Given the description of an element on the screen output the (x, y) to click on. 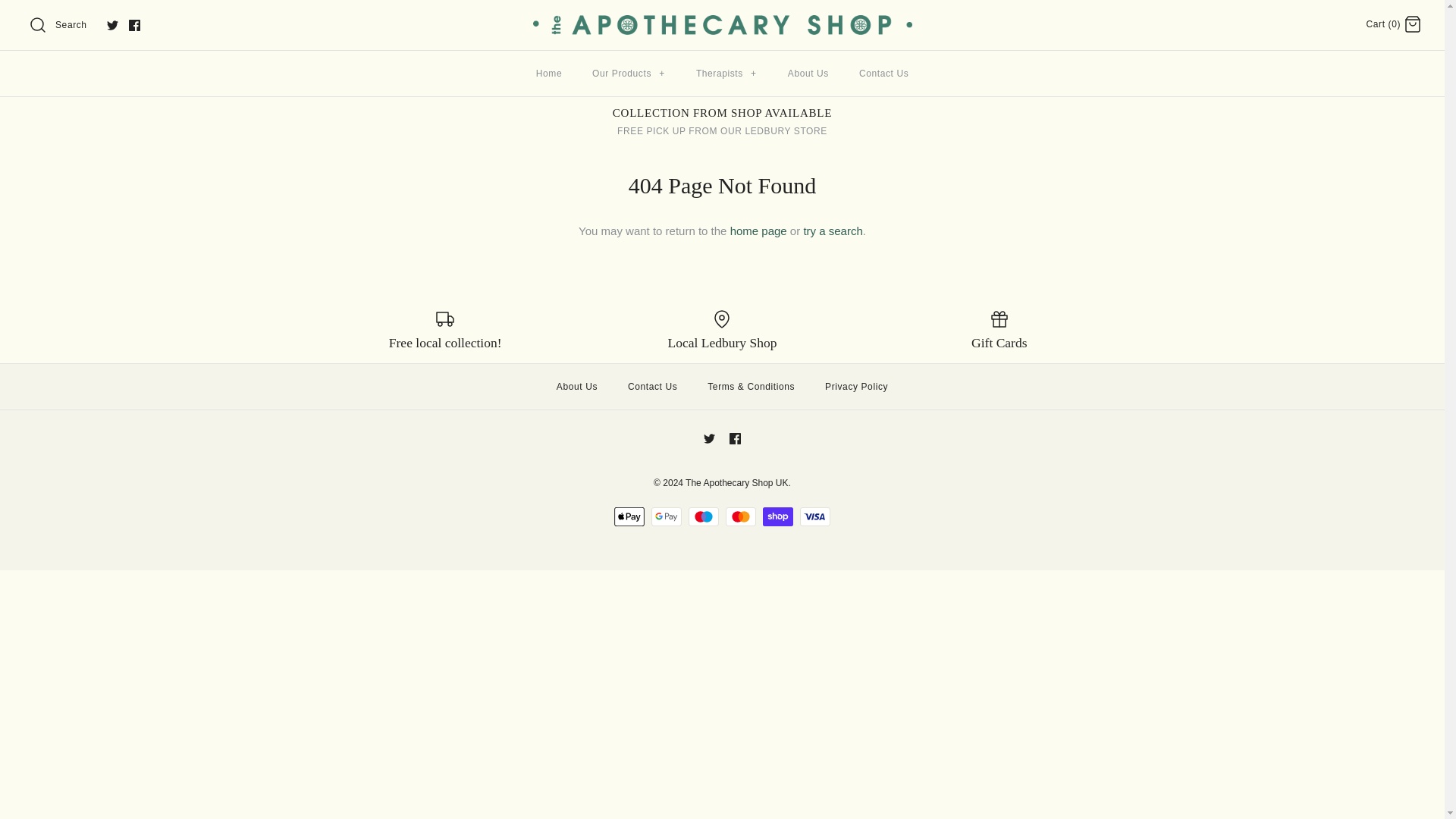
Facebook (134, 25)
Twitter (111, 25)
Facebook (134, 25)
Twitter (708, 438)
Twitter (111, 25)
Facebook (134, 25)
Facebook (735, 438)
Home (548, 73)
Twitter (708, 438)
Twitter (111, 25)
The Apothecary Shop UK (721, 23)
Facebook (735, 438)
